Given the description of an element on the screen output the (x, y) to click on. 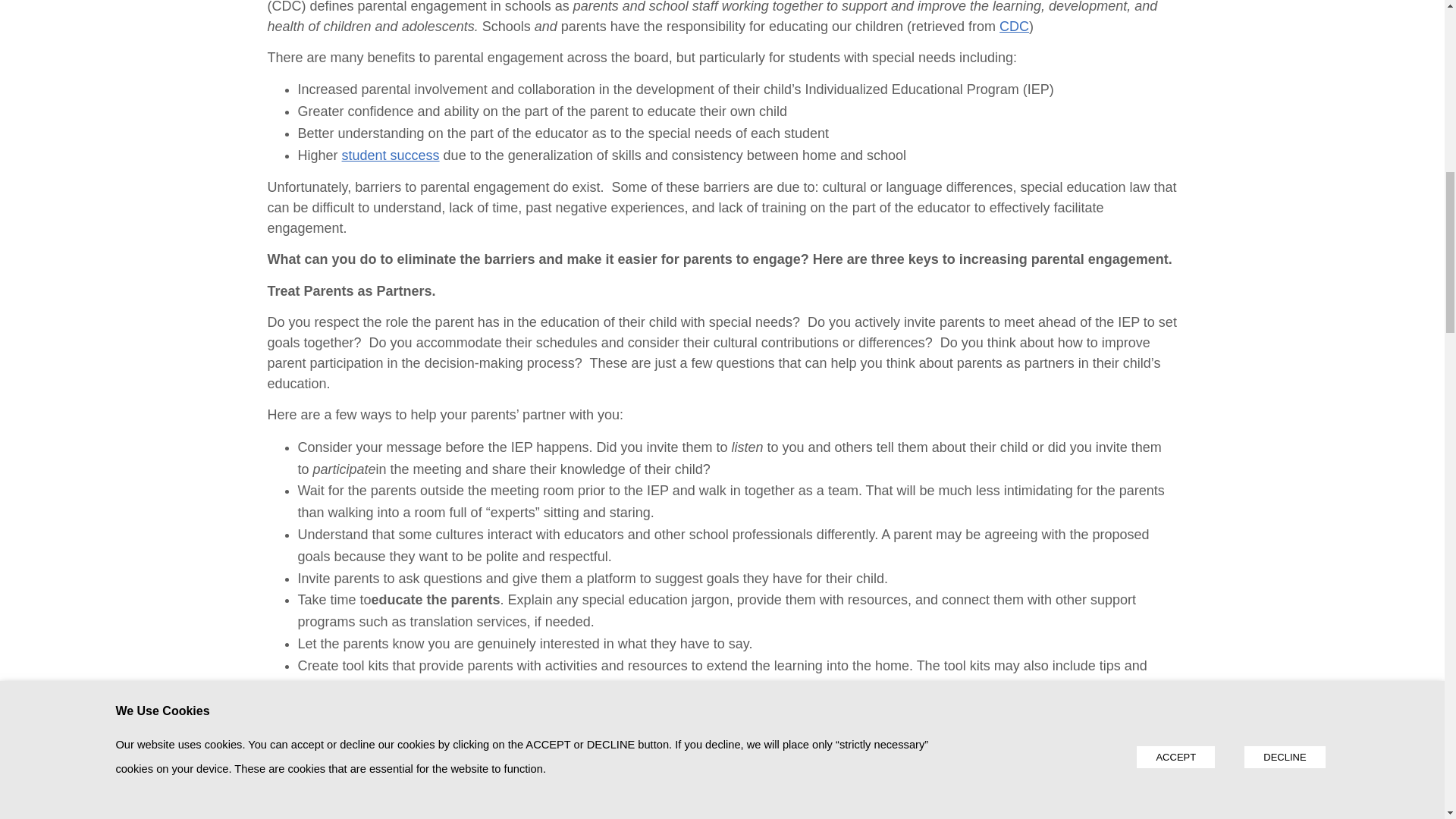
student success (390, 155)
CDC (1013, 26)
